Given the description of an element on the screen output the (x, y) to click on. 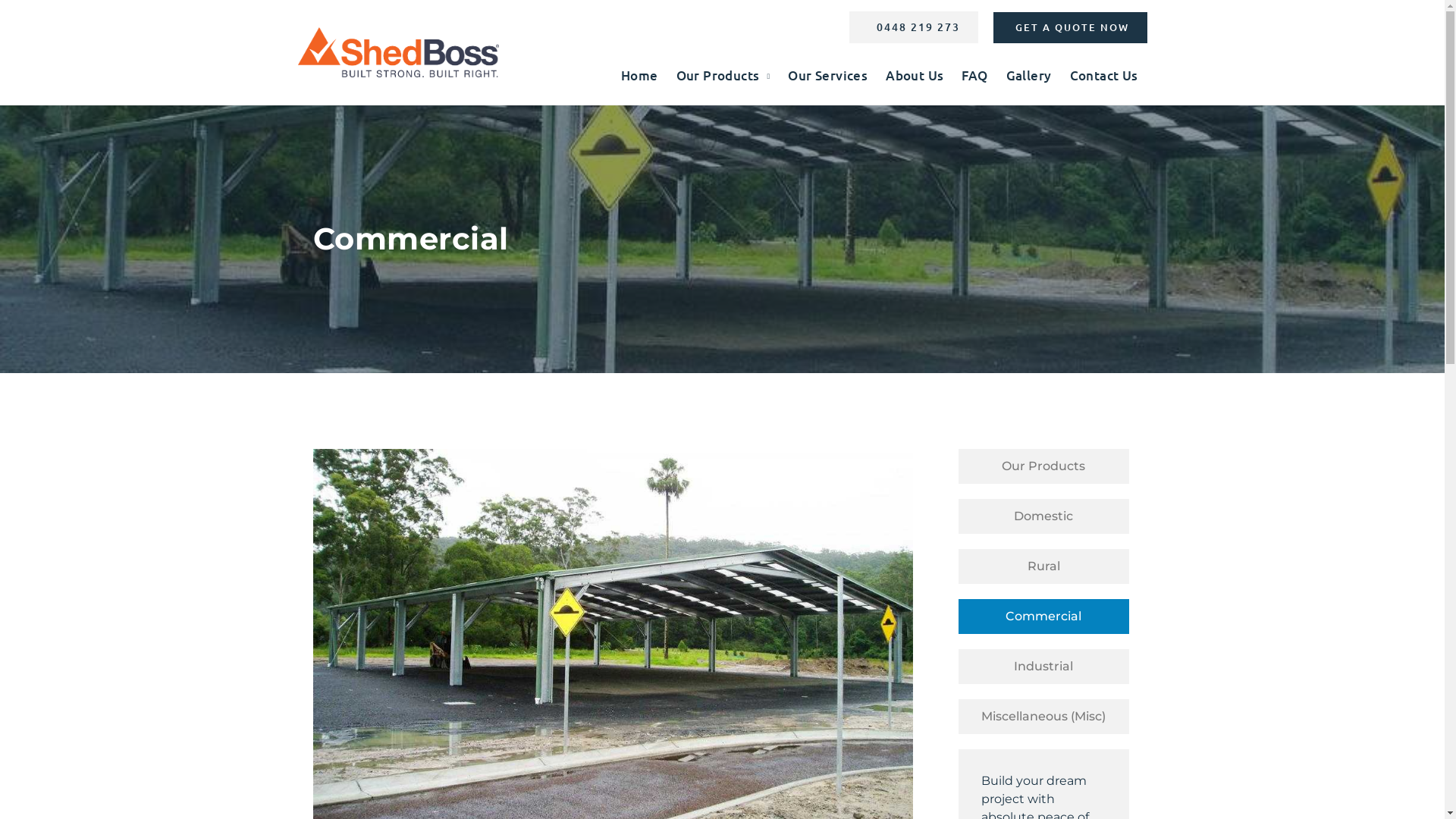
Domestic Element type: text (1043, 515)
Industrial Element type: text (1043, 666)
Rural Element type: text (1043, 566)
FAQ Element type: text (974, 75)
Our Products Element type: text (723, 75)
Miscellaneous (Misc) Element type: text (1043, 716)
Gallery Element type: text (1028, 75)
Our Products Element type: text (1043, 465)
Commercial Element type: text (1043, 616)
Our Services Element type: text (827, 75)
Home Element type: text (639, 75)
About Us Element type: text (914, 75)
Contact Us Element type: text (1103, 75)
GET A QUOTE NOW Element type: text (1070, 27)
0448 219 273 Element type: text (913, 27)
